Given the description of an element on the screen output the (x, y) to click on. 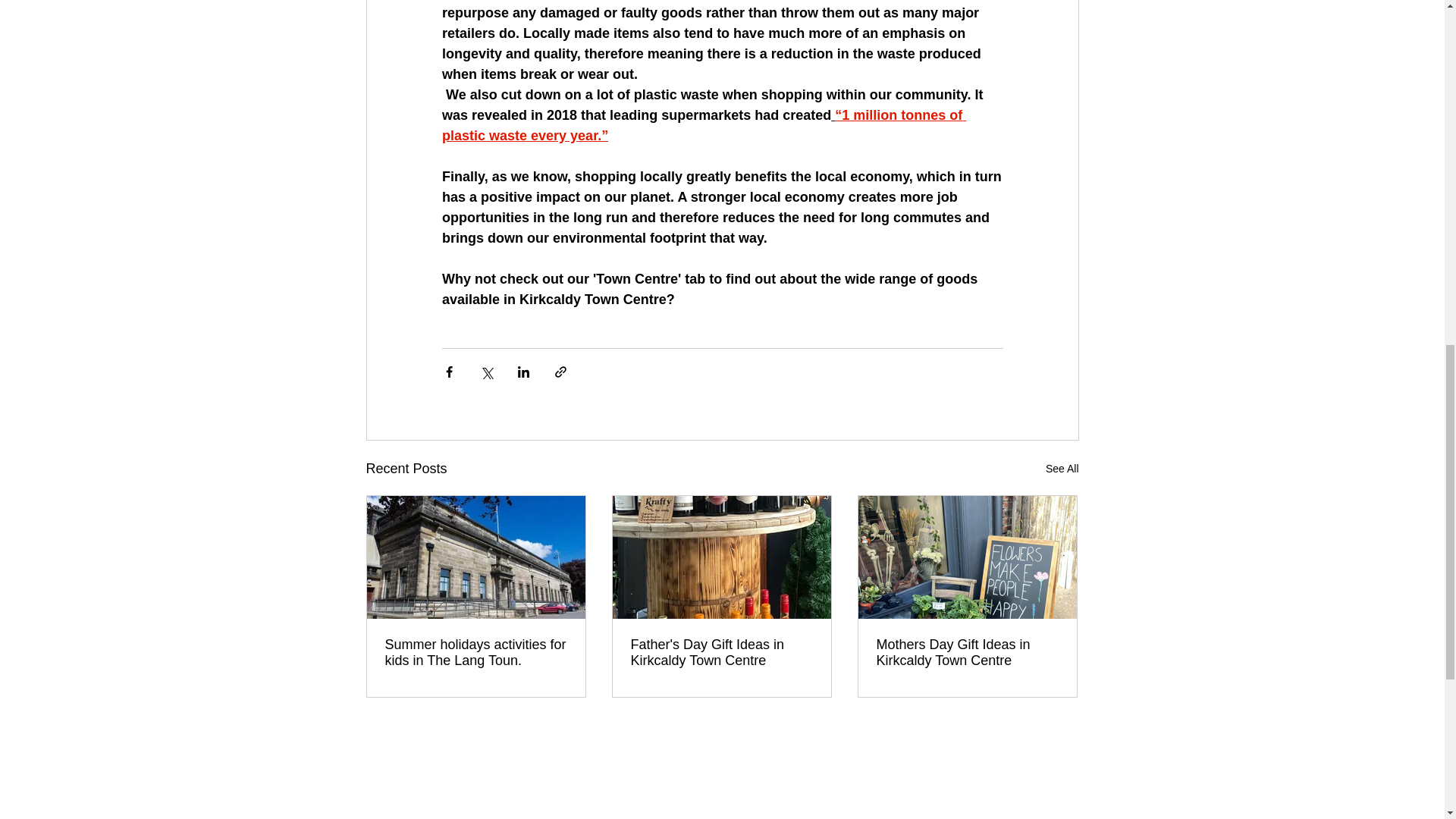
See All (1061, 468)
Summer holidays activities for kids in The Lang Toun. (476, 653)
